Given the description of an element on the screen output the (x, y) to click on. 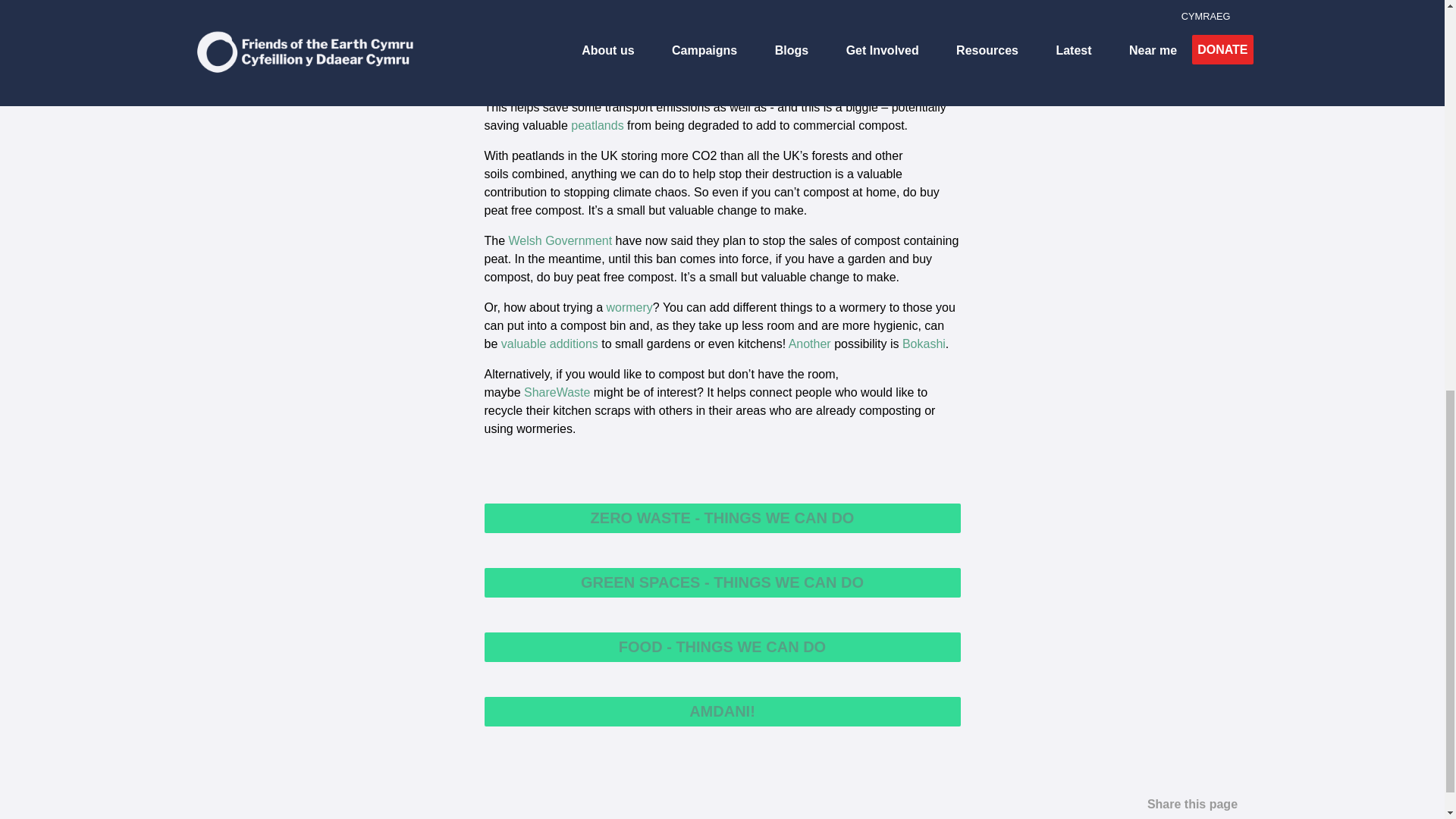
Another (810, 343)
wormery (628, 307)
valuable additions (549, 343)
composting at home (579, 58)
peatlands (596, 124)
Welsh Government (560, 240)
Bokashi (923, 343)
